Given the description of an element on the screen output the (x, y) to click on. 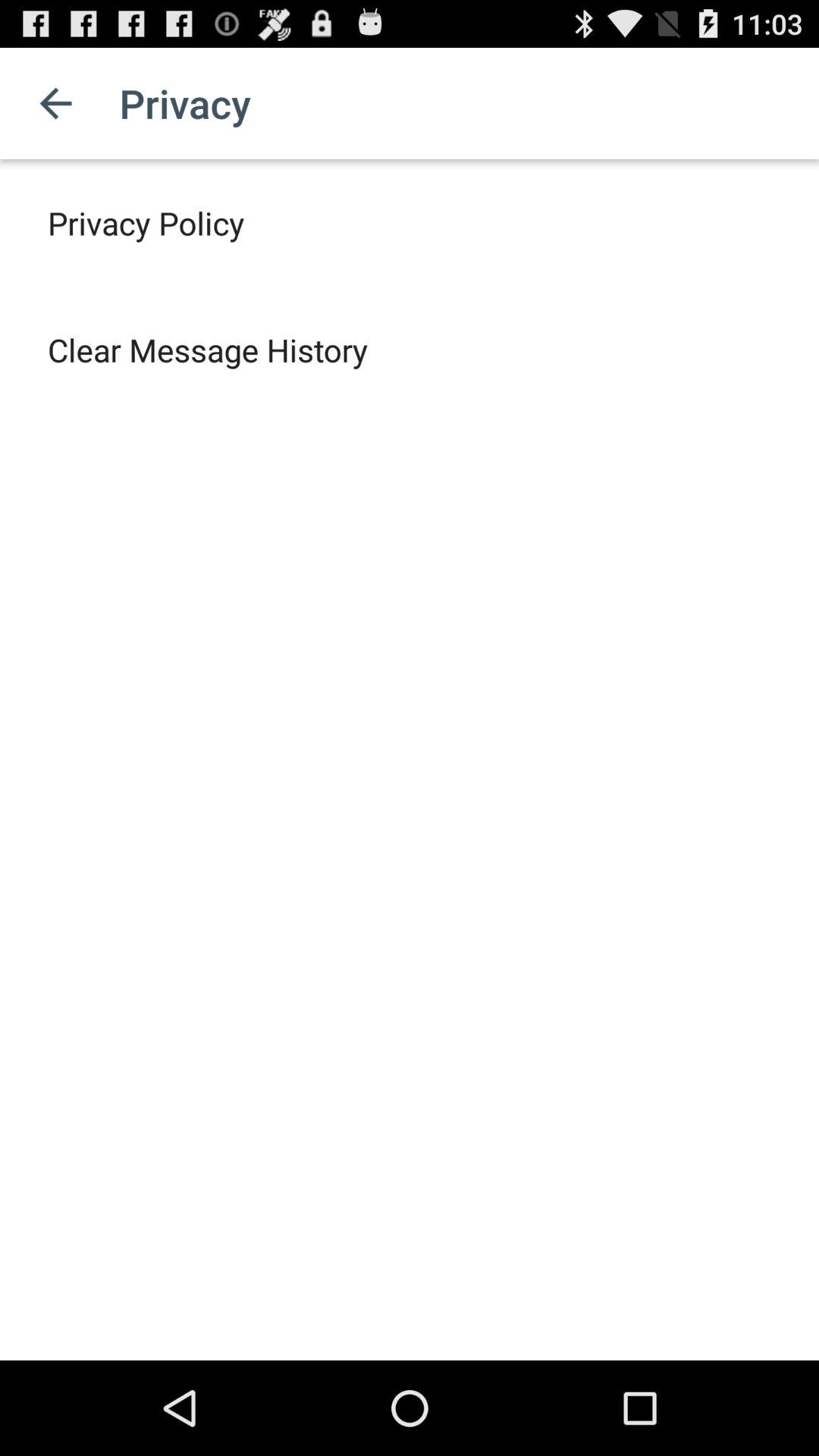
turn on the clear message history item (207, 349)
